Given the description of an element on the screen output the (x, y) to click on. 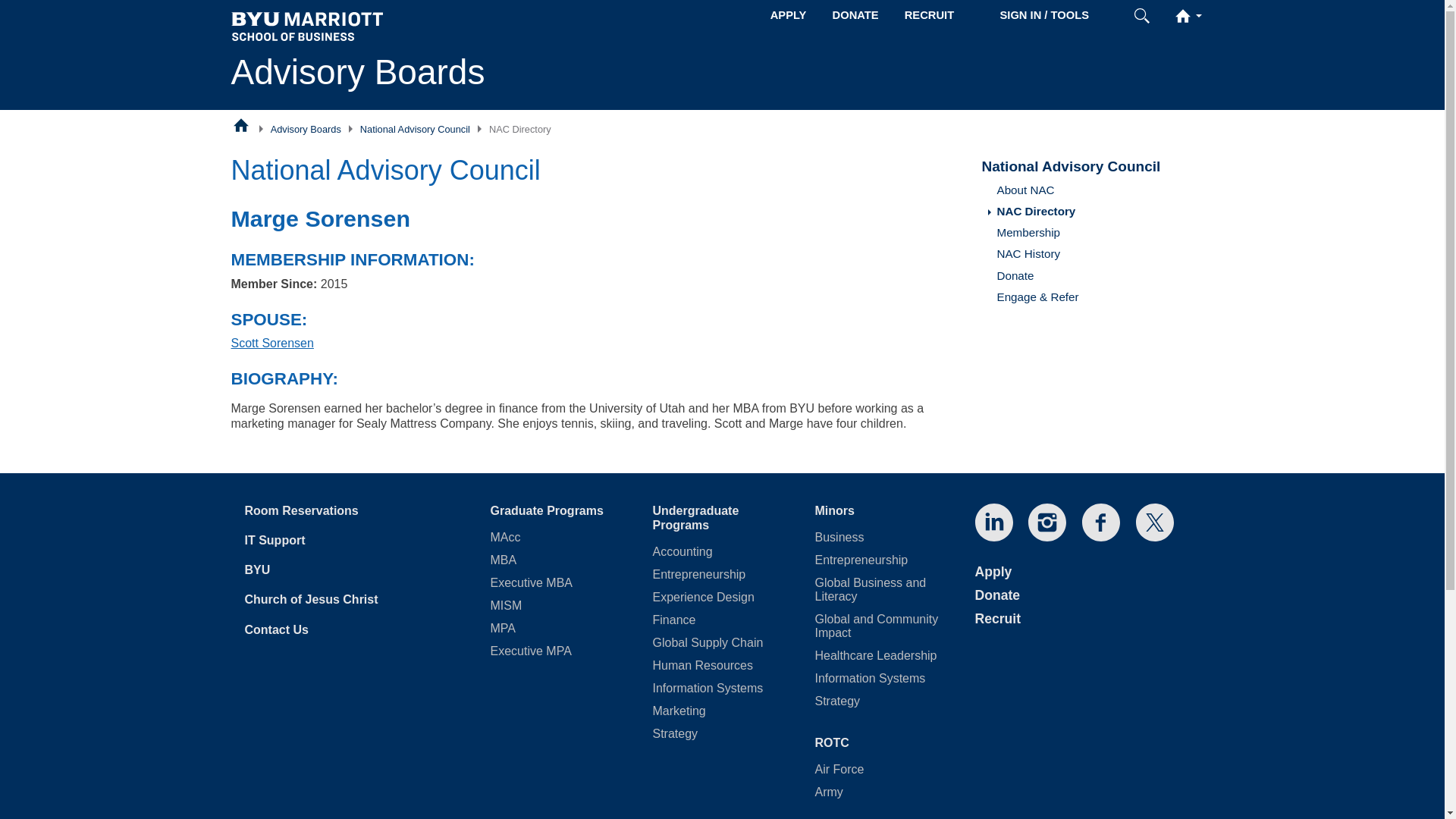
RECRUIT (929, 15)
DONATE (855, 15)
BYU Marriott School of Business Home Page (240, 124)
APPLY (788, 15)
National Advisory Council (414, 129)
Advisory Boards (305, 129)
